Given the description of an element on the screen output the (x, y) to click on. 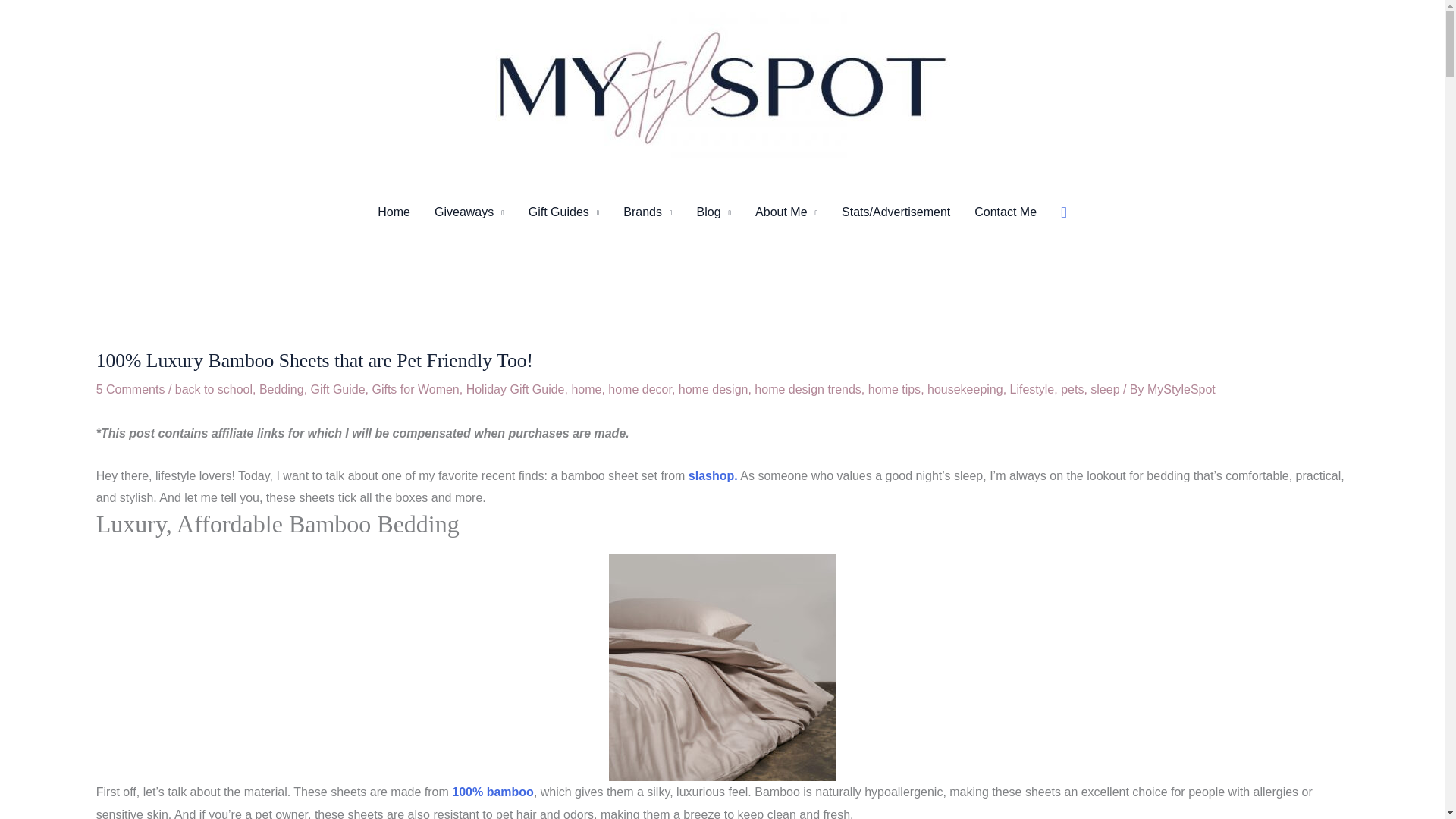
Giveaways (469, 212)
home tips (893, 389)
Brands (647, 212)
Gift Guide (338, 389)
housekeeping (965, 389)
5 Comments (130, 389)
Gift Guides (563, 212)
Lifestyle (1032, 389)
Blog (714, 212)
home decor (639, 389)
back to school (212, 389)
home design (713, 389)
home design trends (807, 389)
Gifts for Women (414, 389)
pets (1072, 389)
